Given the description of an element on the screen output the (x, y) to click on. 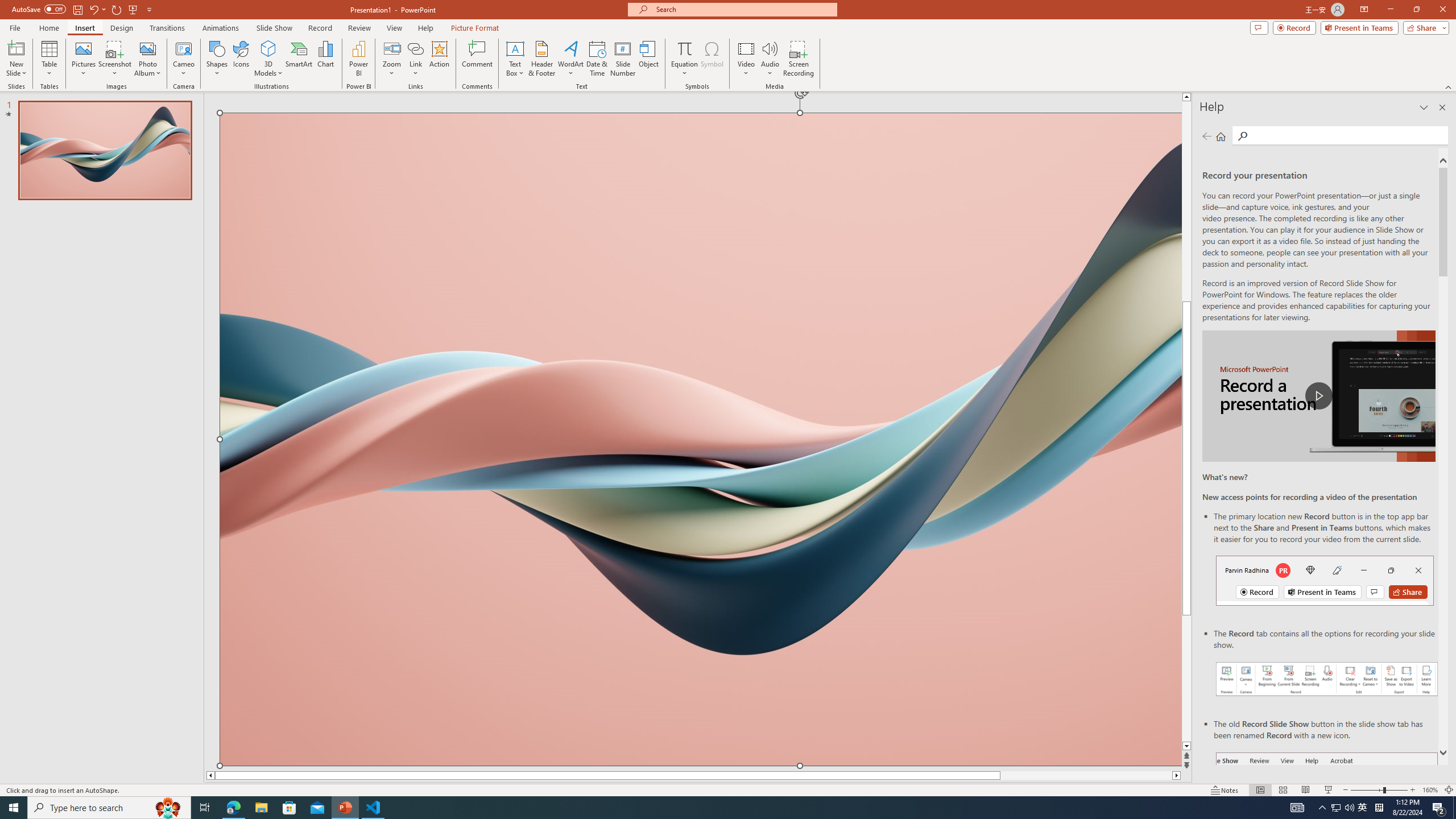
Link (415, 48)
play Record a Presentation (1318, 395)
